Given the description of an element on the screen output the (x, y) to click on. 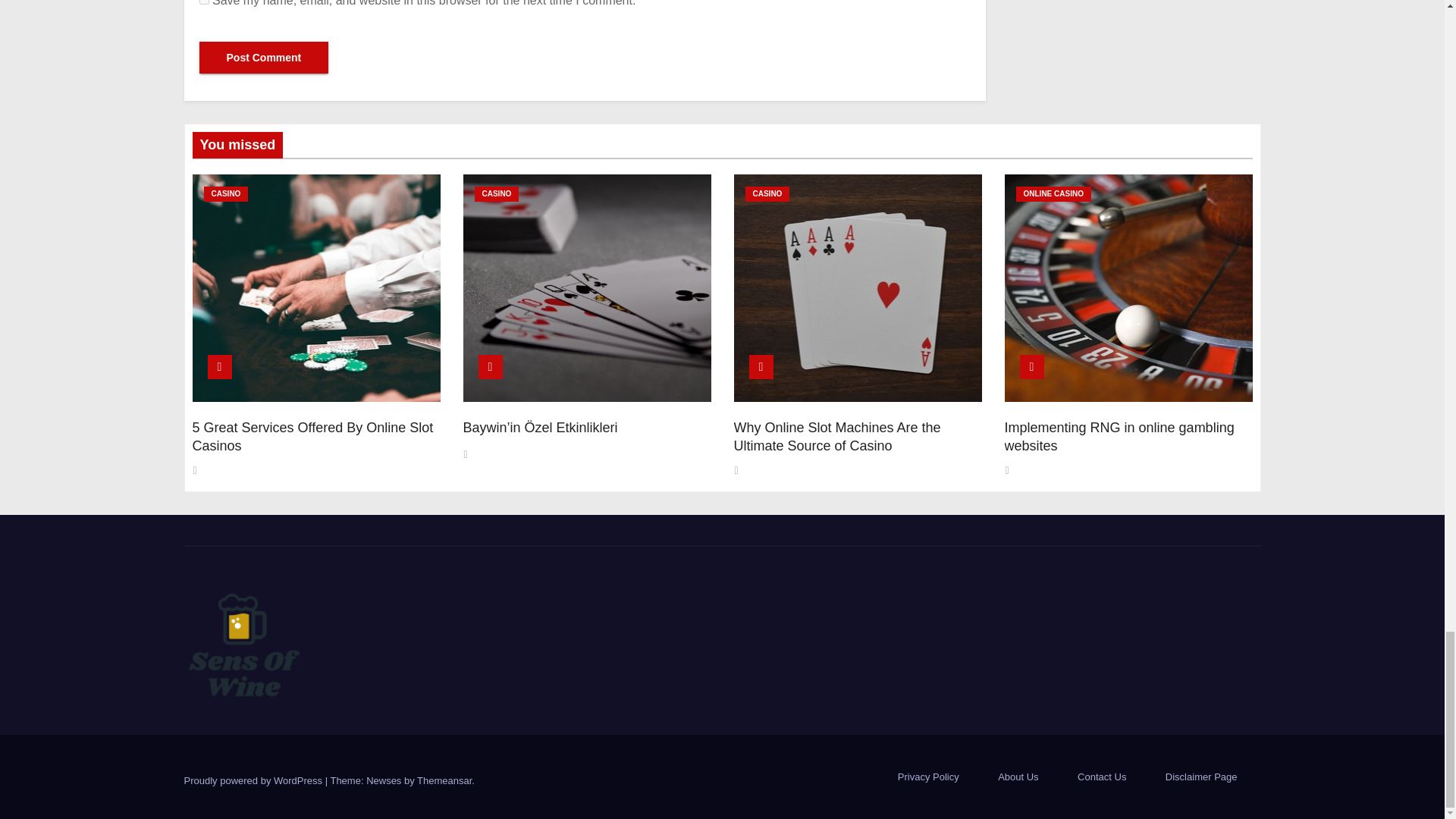
yes (203, 2)
Post Comment (263, 57)
